Given the description of an element on the screen output the (x, y) to click on. 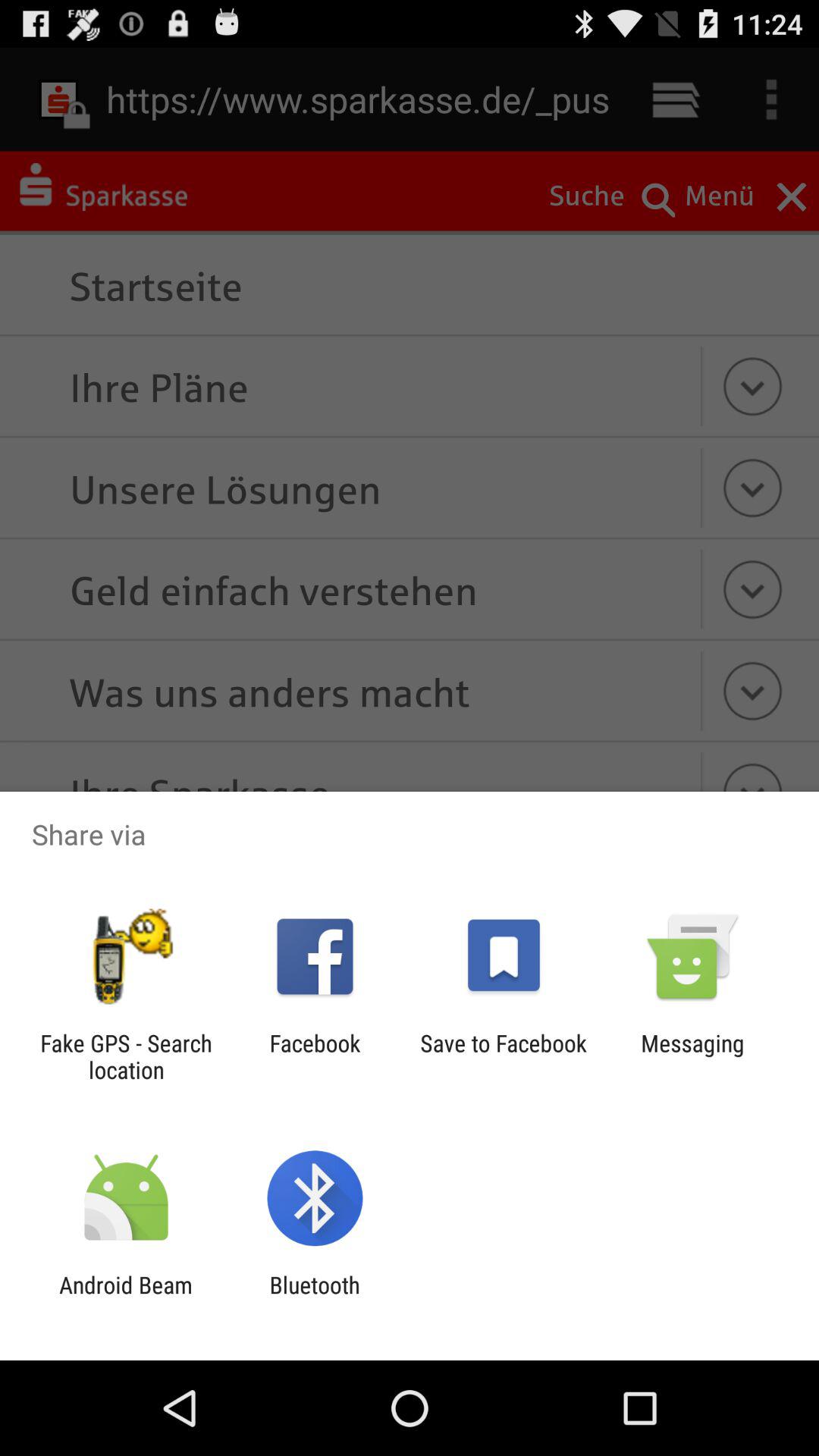
swipe to fake gps search app (125, 1056)
